Given the description of an element on the screen output the (x, y) to click on. 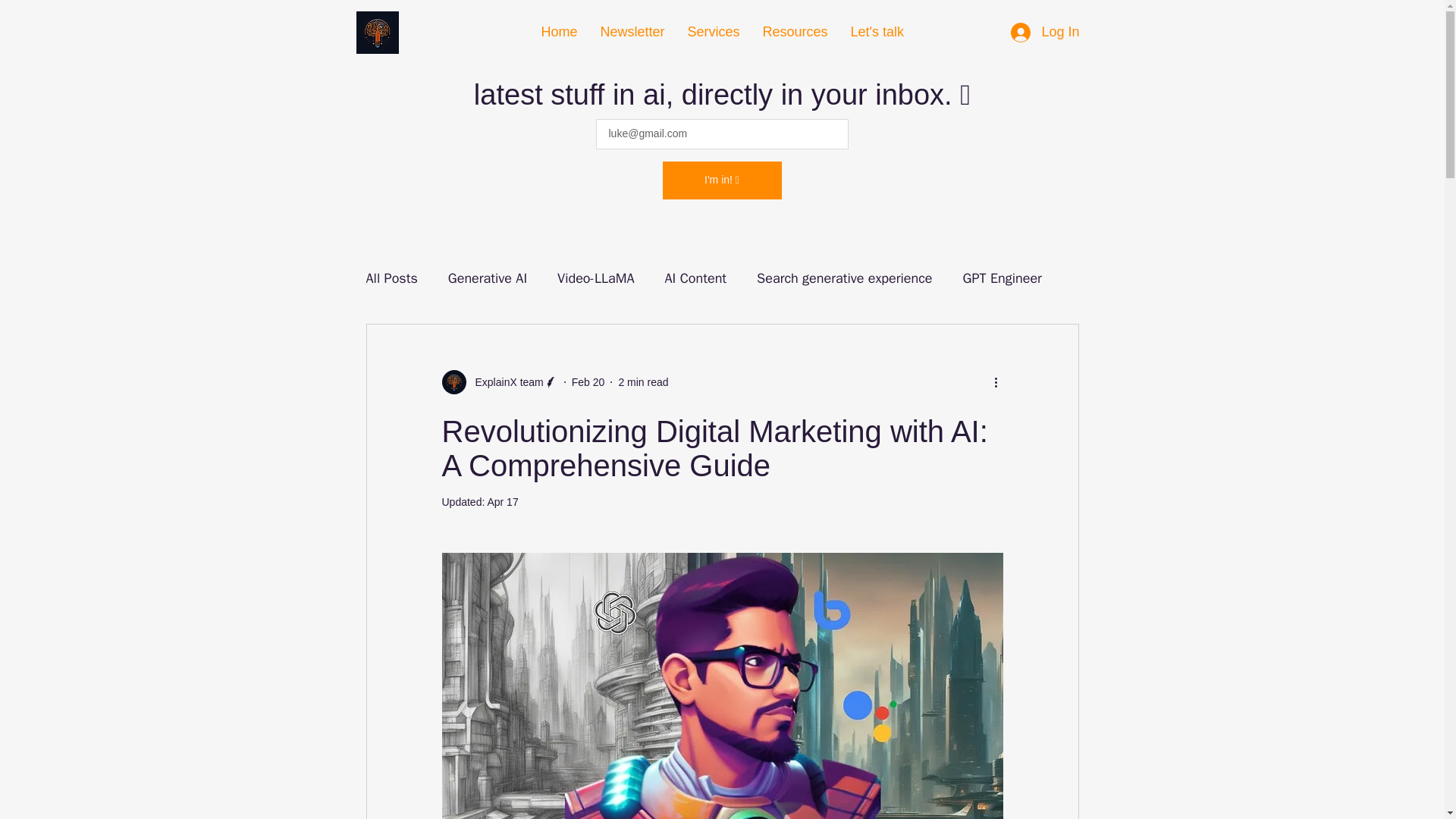
Video-LLaMA (595, 278)
GPT Engineer (1002, 278)
All Posts (390, 278)
Apr 17 (502, 501)
Newsletter (631, 31)
Services (714, 31)
Log In (1044, 32)
Let's talk (876, 31)
Generative AI (487, 278)
2 min read (642, 381)
Search generative experience (844, 278)
Feb 20 (588, 381)
ExplainX team (504, 382)
ExplainX team (499, 381)
AI Content (694, 278)
